Given the description of an element on the screen output the (x, y) to click on. 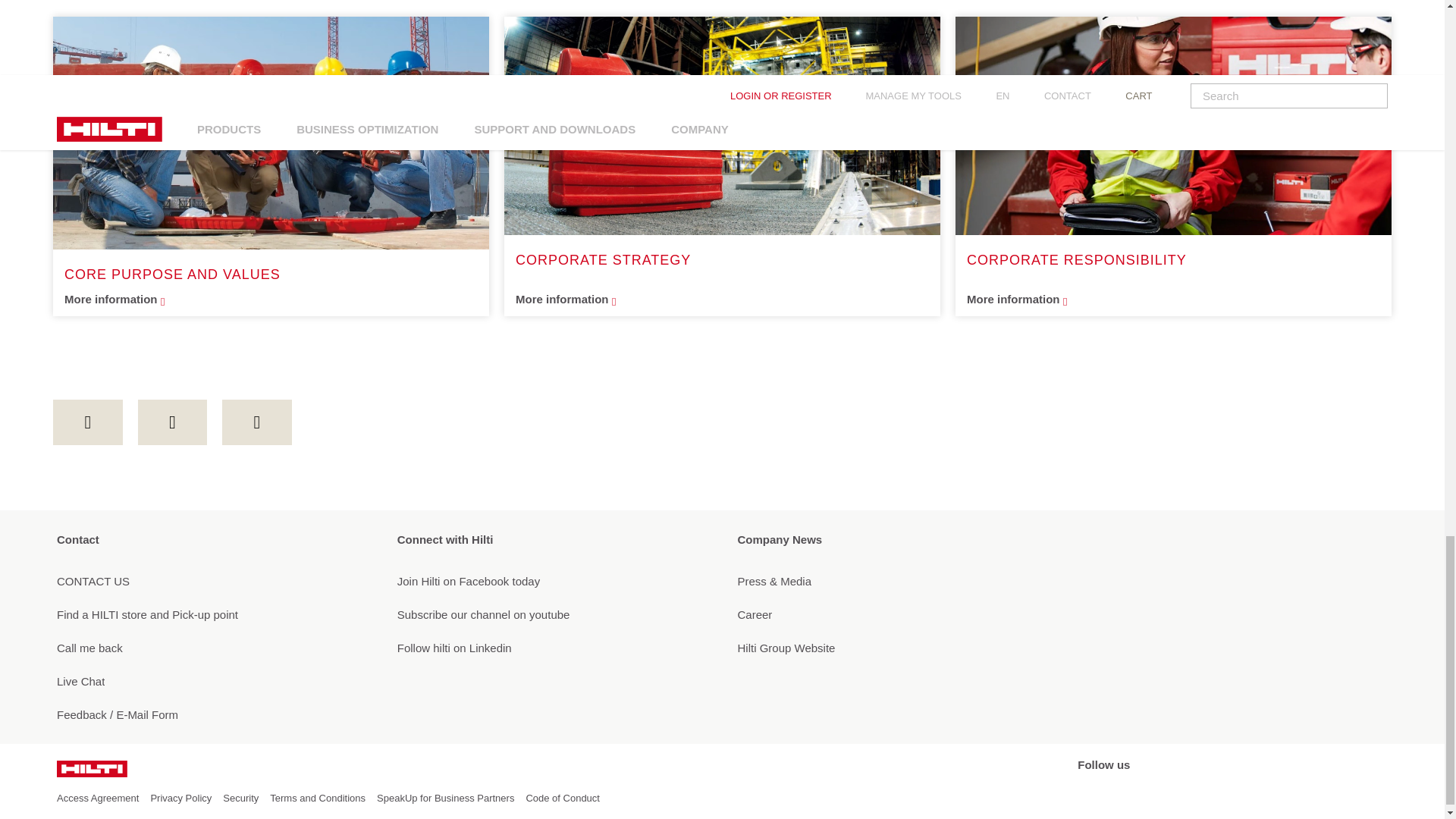
Hilti Group Website (891, 647)
Live Chat (211, 681)
More information (1173, 299)
Find a HILTI store and Pick-up point (211, 614)
Follow hilti on Linkedin (552, 647)
Access Agreement (97, 798)
Join Hilti on Facebook today (552, 580)
Terms and Conditions (317, 798)
More information (270, 299)
Subscribe our channel on youtube (552, 614)
Career (891, 614)
Privacy Policy (180, 798)
Call me back (211, 647)
Security (240, 798)
CONTACT US (211, 580)
